Given the description of an element on the screen output the (x, y) to click on. 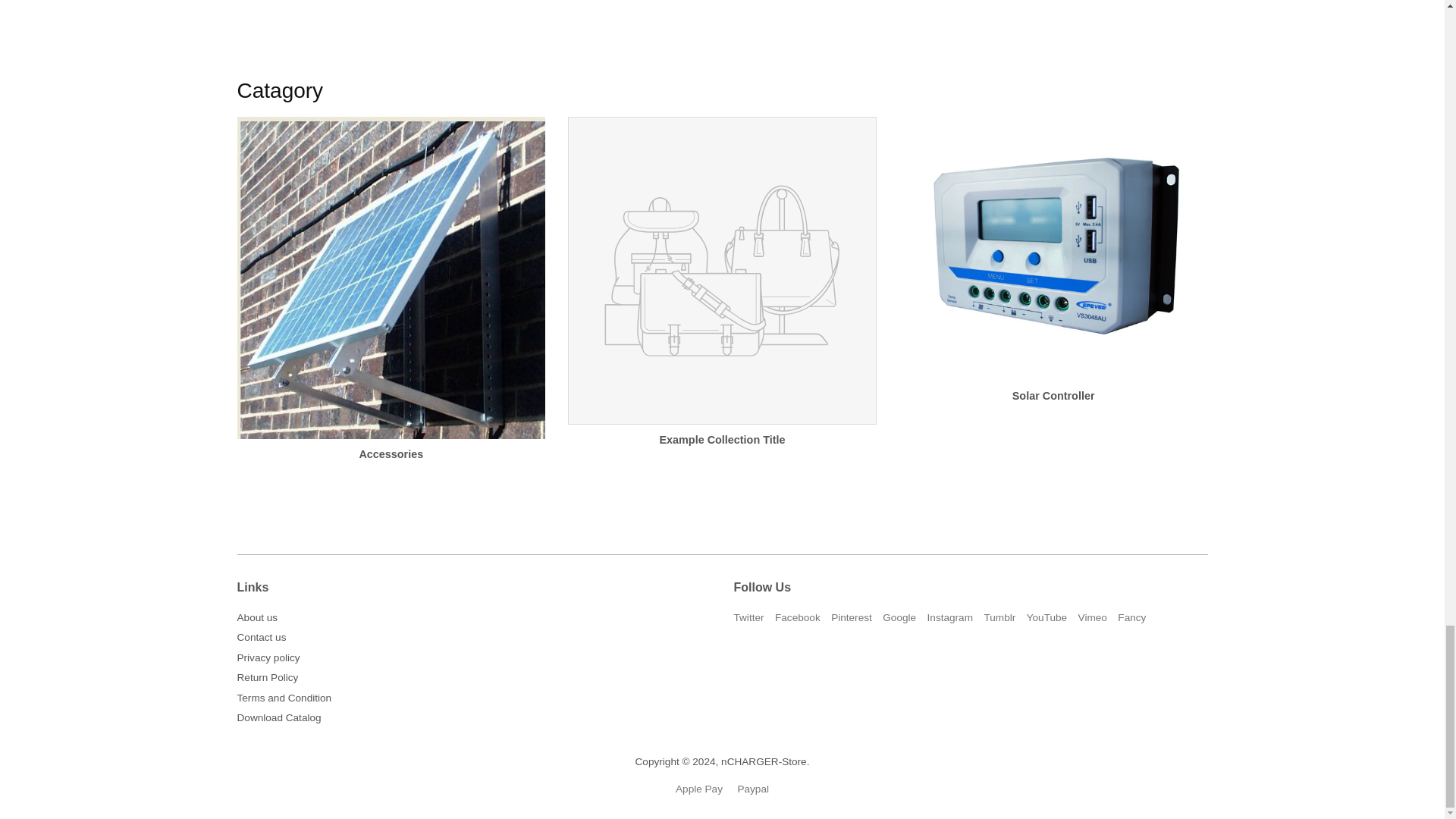
Browse our Accessories collection (389, 302)
nCHARGER-Store on Vimeo (1092, 617)
nCHARGER-Store on YouTube (1046, 617)
nCHARGER-Store on Pinterest (851, 617)
Browse our Solar Controller collection (1053, 273)
nCHARGER-Store on Facebook (797, 617)
nCHARGER-Store on Instagram (949, 617)
Example Collection Title (721, 296)
nCHARGER-Store on Google Plus (898, 617)
Browse our Example Collection Title collection (721, 296)
nCHARGER-Store on Twitter (748, 617)
nCHARGER-Store on Fancy (1131, 617)
nCHARGER-Store on Tumblr (999, 617)
Accessories (389, 302)
